Given the description of an element on the screen output the (x, y) to click on. 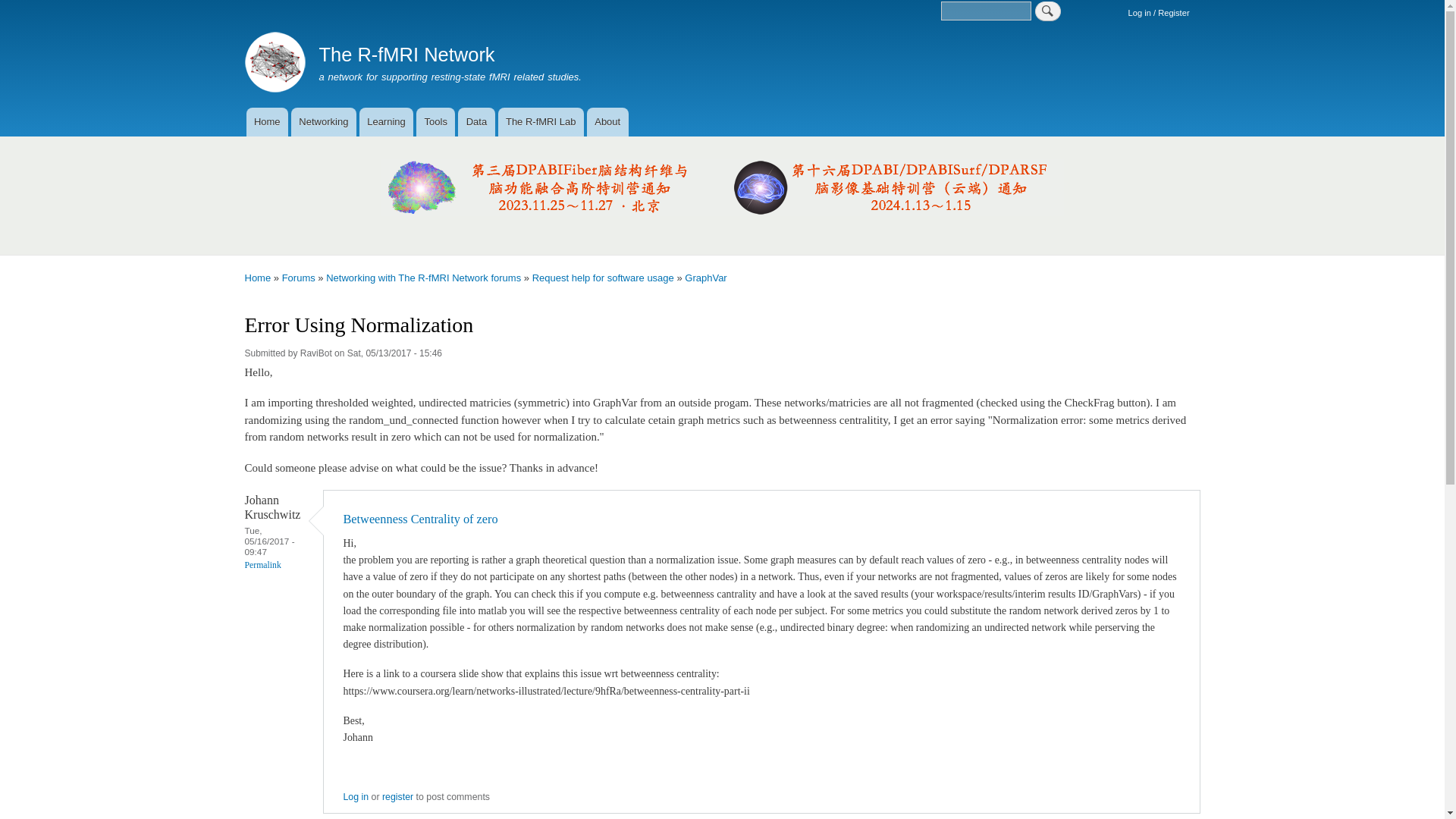
Learning Resources about R-fMRI (386, 121)
Home (266, 121)
Search (1048, 11)
All the Networking events at The R-fMRI Network (323, 121)
Networking (323, 121)
Data (476, 121)
Learning (386, 121)
The R-fMRI Network (406, 54)
Search (1048, 11)
Tools (435, 121)
Enter the terms you wish to search for. (985, 10)
Search (1048, 11)
Skip to main content (722, 1)
